Given the description of an element on the screen output the (x, y) to click on. 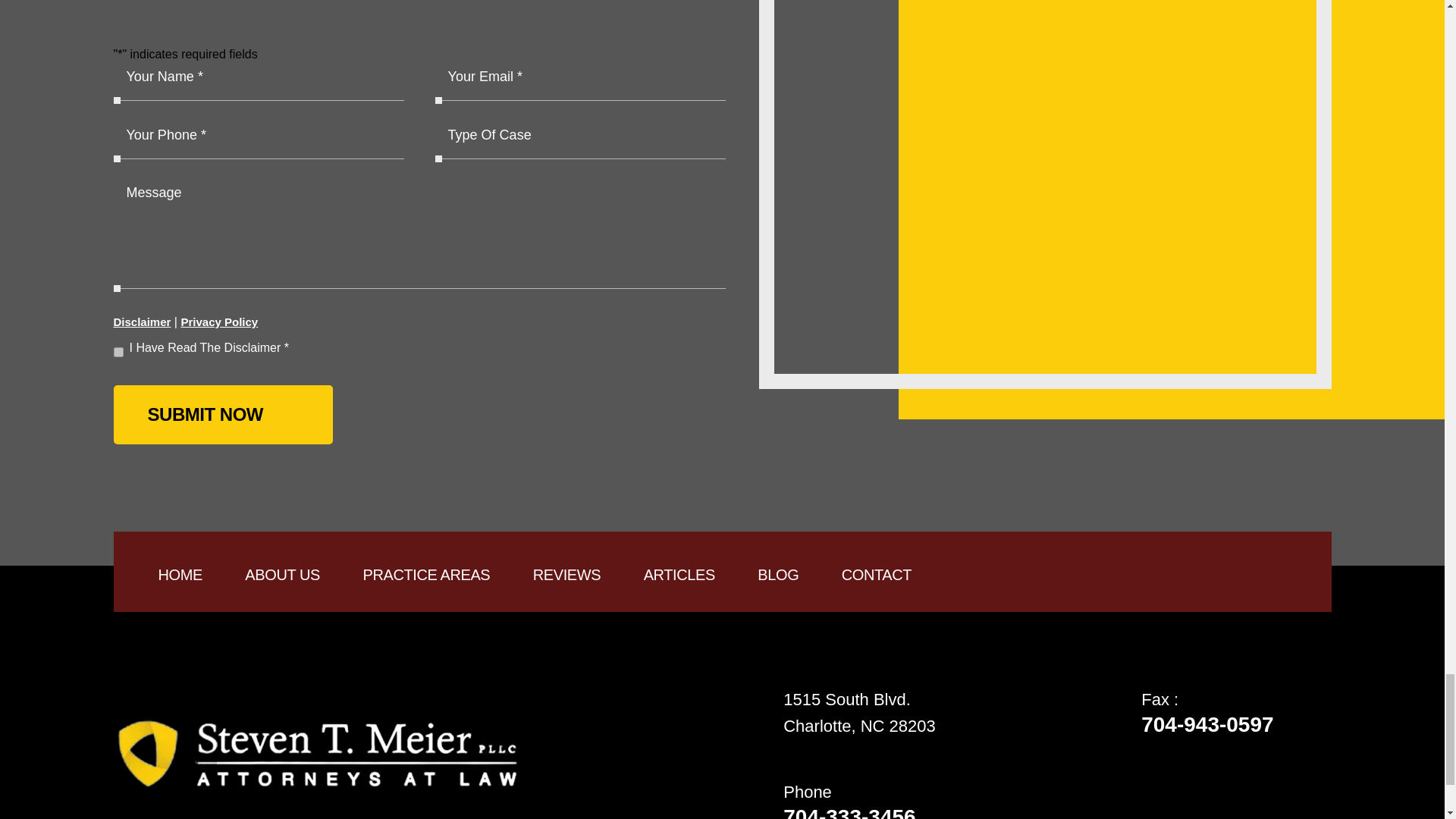
Submit Now (223, 414)
